Given the description of an element on the screen output the (x, y) to click on. 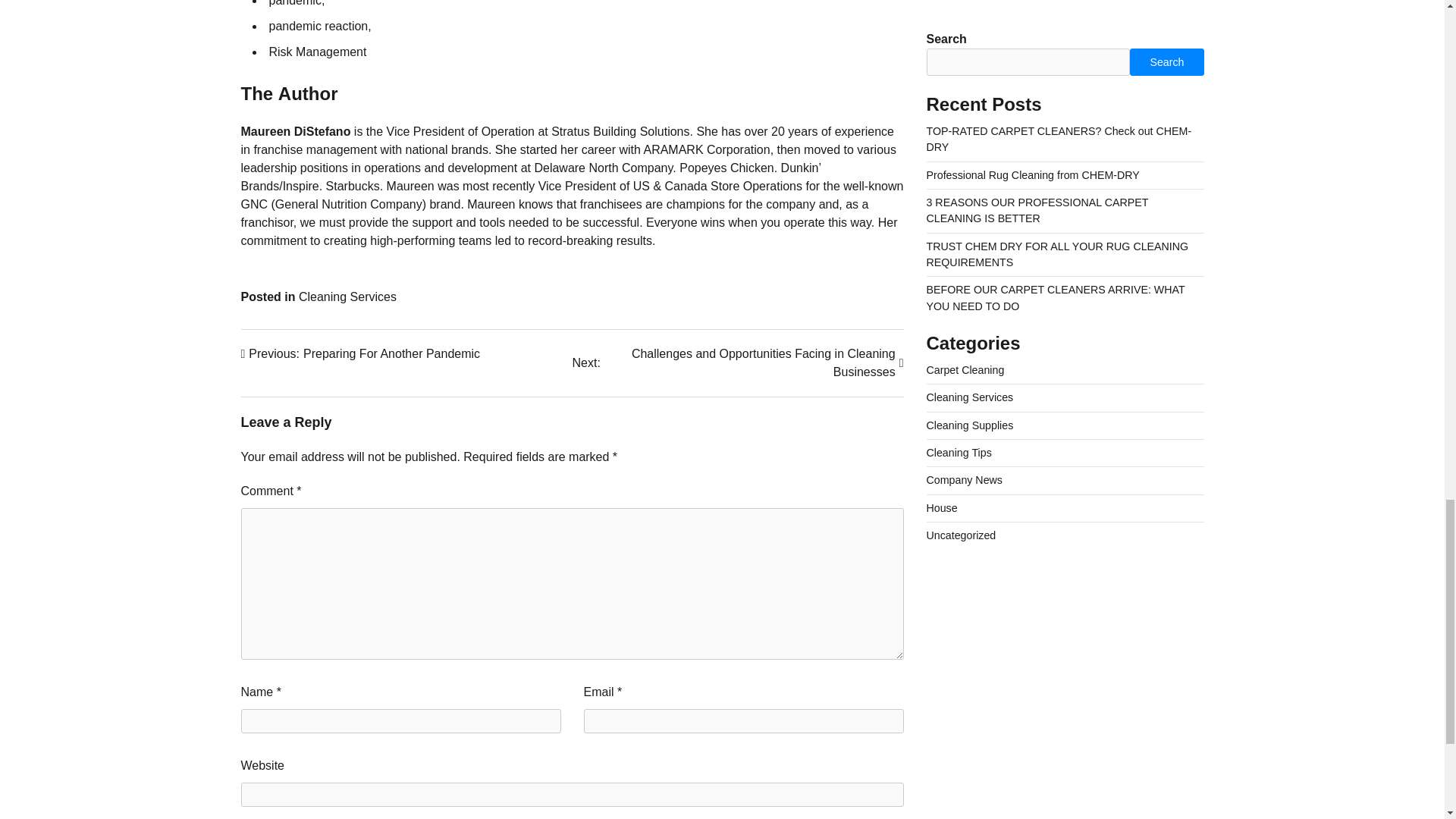
Cleaning Services (360, 353)
